Given the description of an element on the screen output the (x, y) to click on. 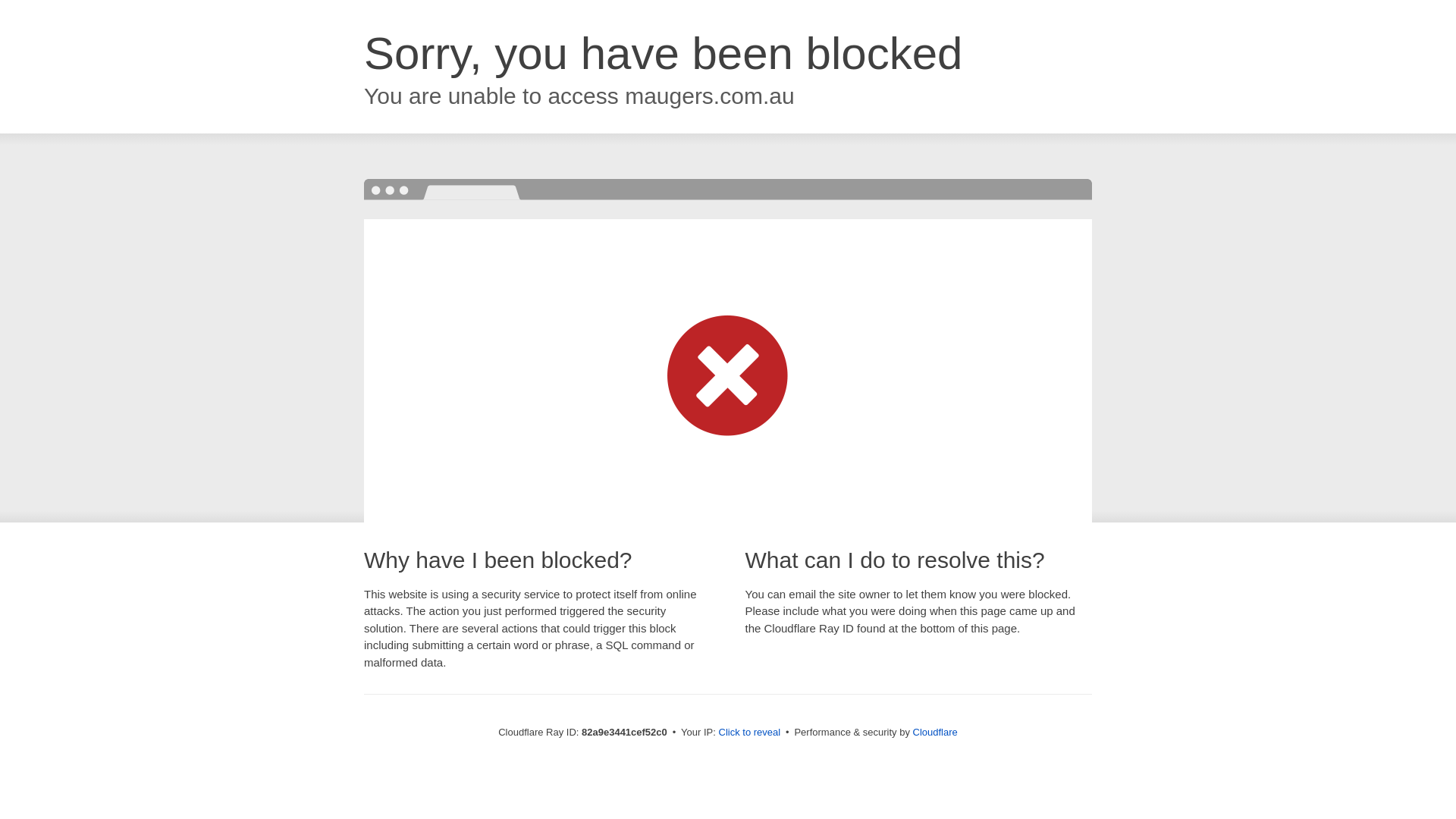
Cloudflare Element type: text (935, 731)
Click to reveal Element type: text (749, 732)
